Given the description of an element on the screen output the (x, y) to click on. 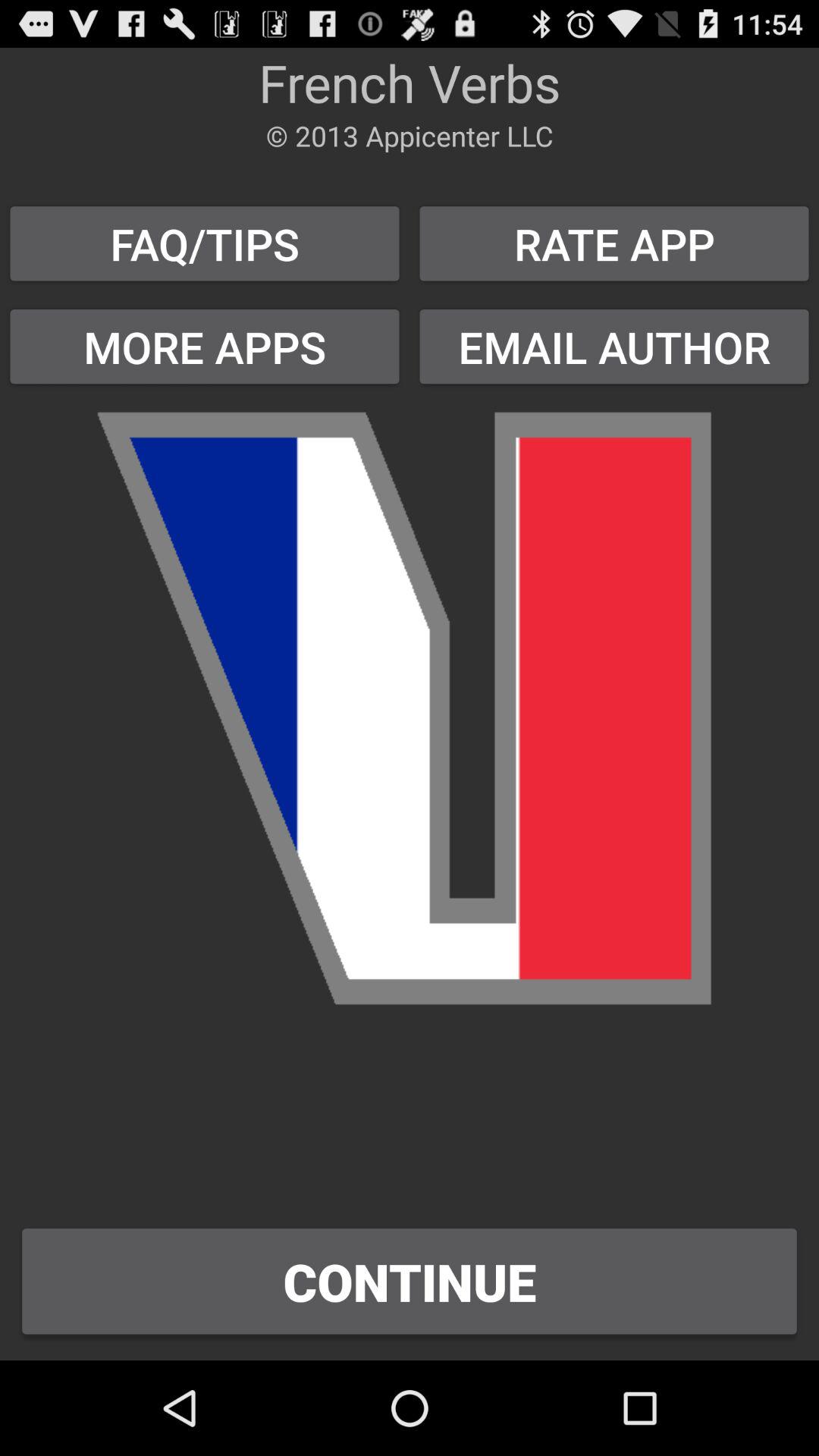
scroll until the faq/tips button (204, 243)
